Given the description of an element on the screen output the (x, y) to click on. 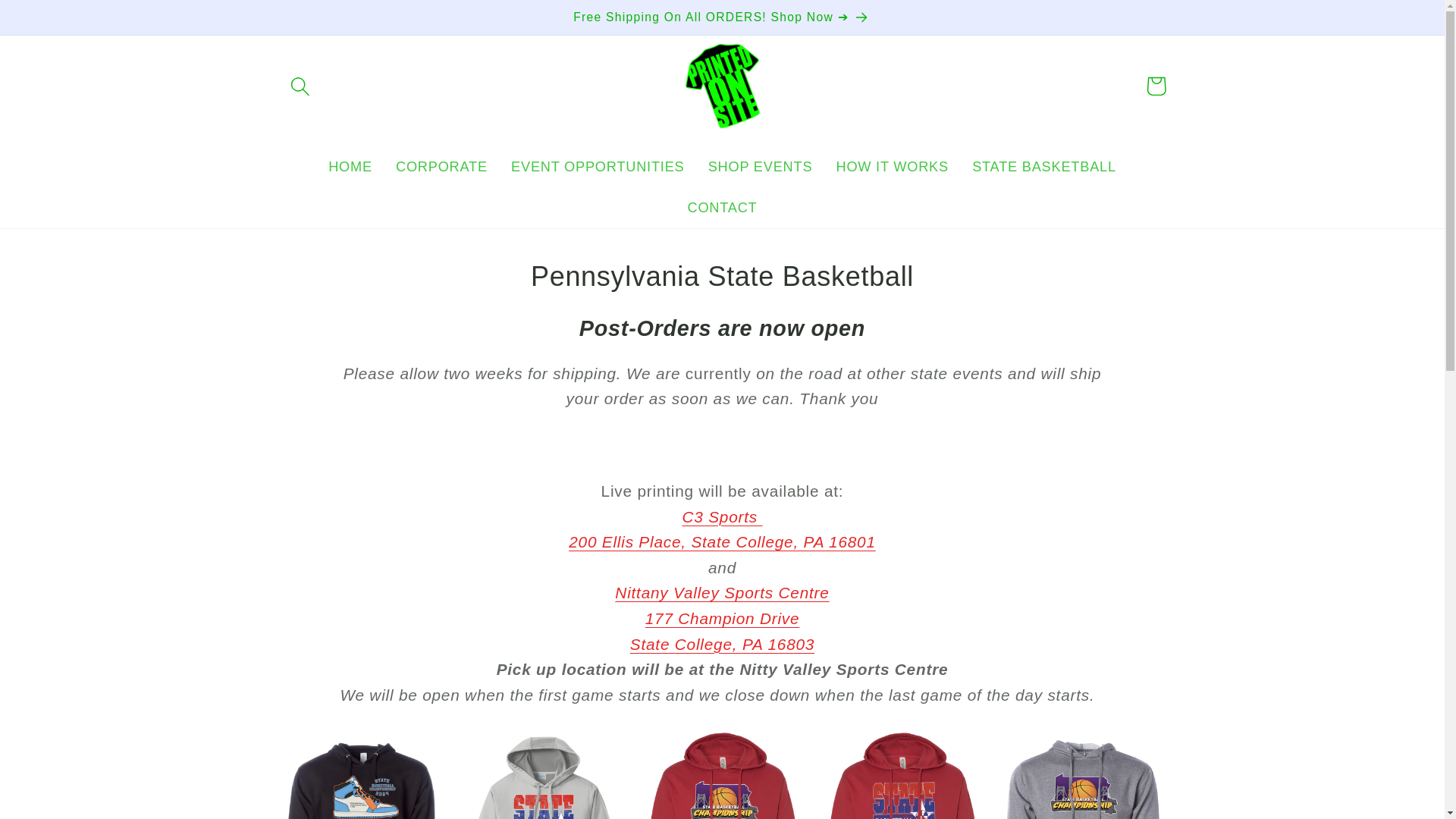
CONTACT (721, 207)
EVENT OPPORTUNITIES (597, 167)
SHOP EVENTS (759, 167)
Nittany Valley Sports Centre (721, 592)
STATE BASKETBALL (1044, 167)
Skip to content (59, 22)
HOME (722, 529)
HOW IT WORKS (721, 630)
CORPORATE (350, 167)
Cart (892, 167)
